Given the description of an element on the screen output the (x, y) to click on. 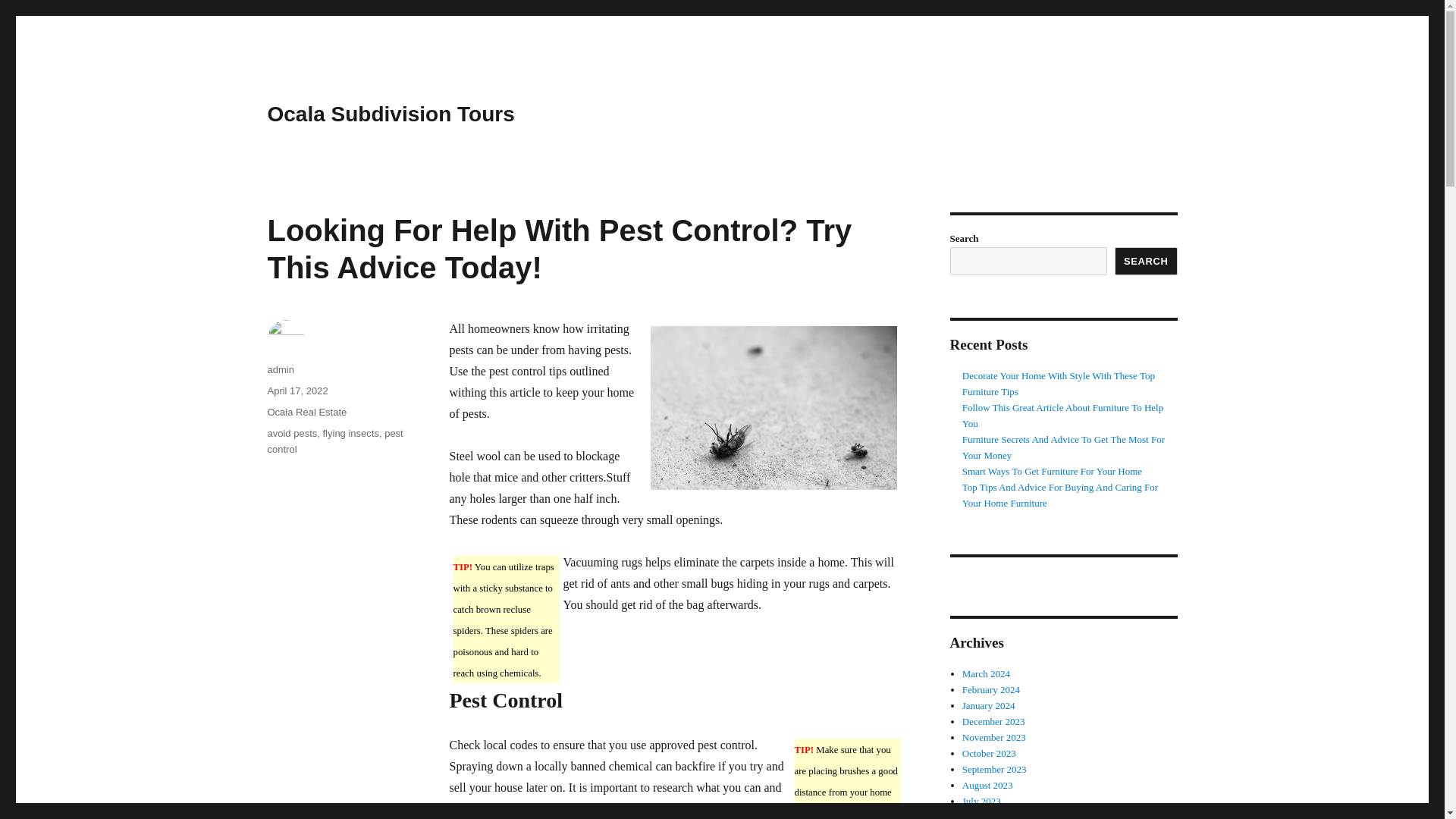
pest control (334, 441)
June 2023 (982, 815)
Follow This Great Article About Furniture To Help You (1062, 415)
September 2023 (994, 768)
Ocala Subdivision Tours (389, 114)
flying insects (350, 432)
October 2023 (989, 753)
April 17, 2022 (296, 390)
Decorate Your Home With Style With These Top Furniture Tips (1058, 383)
July 2023 (981, 800)
Furniture Secrets And Advice To Get The Most For Your Money (1063, 447)
Smart Ways To Get Furniture For Your Home (1051, 471)
August 2023 (987, 785)
December 2023 (993, 721)
